Given the description of an element on the screen output the (x, y) to click on. 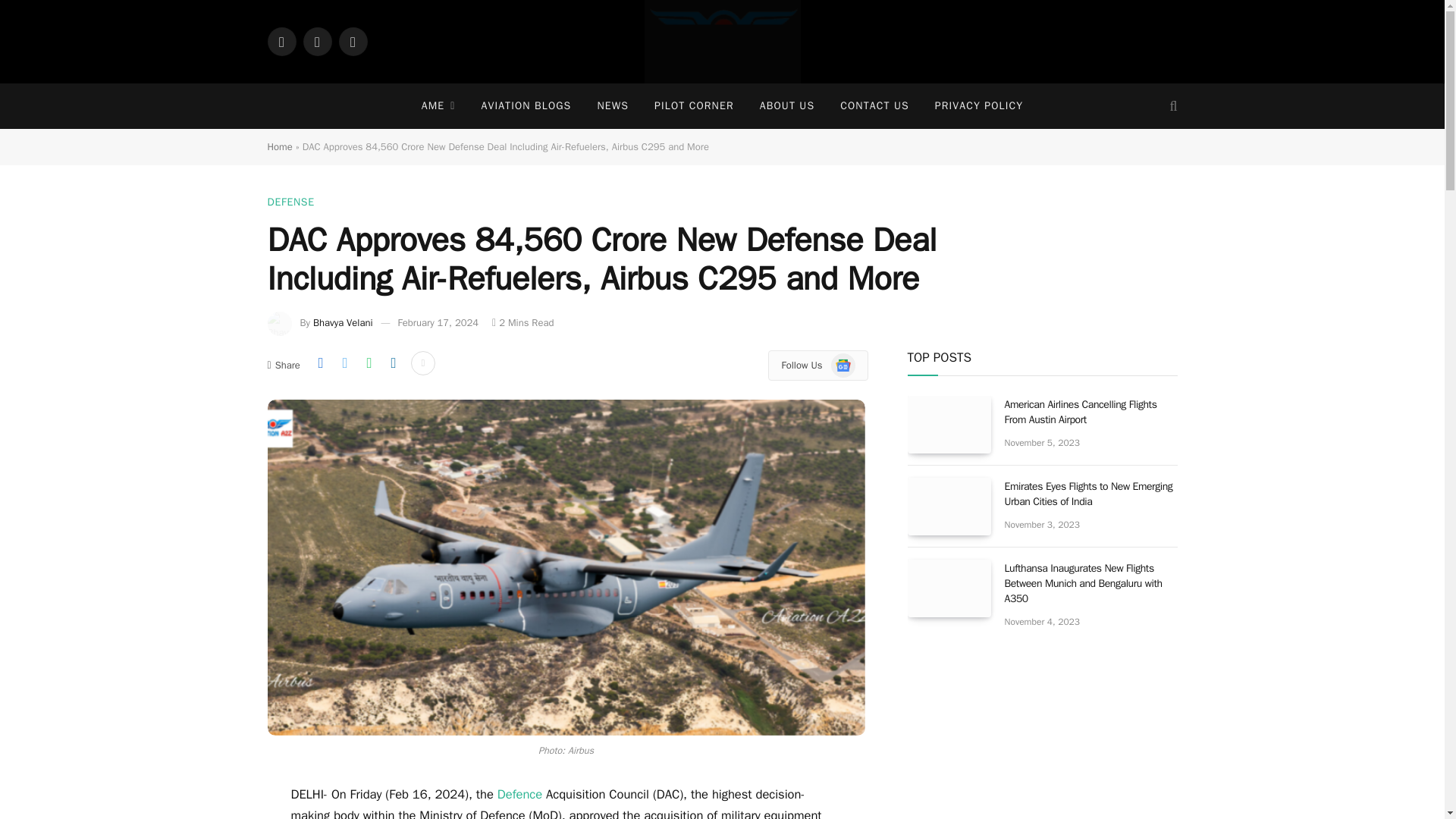
Share on WhatsApp (369, 363)
Home (279, 146)
Share on Facebook (319, 363)
DEFENSE (290, 201)
Posts by Bhavya Velani (342, 322)
Aviation A2Z (722, 41)
AME (438, 105)
PRIVACY POLICY (978, 105)
CONTACT US (874, 105)
